Given the description of an element on the screen output the (x, y) to click on. 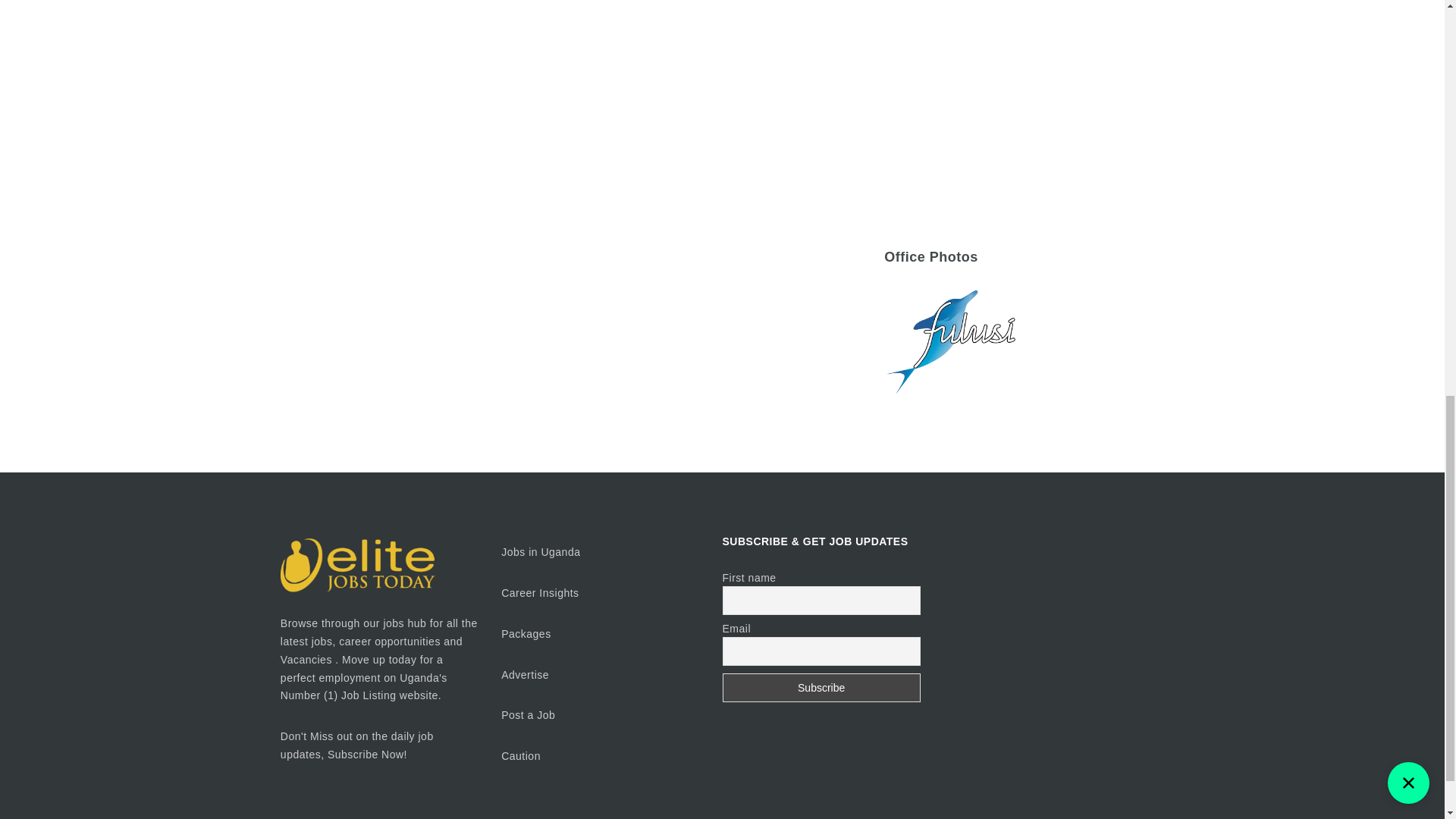
Advertisement (1023, 102)
Advertise  (525, 674)
Career Insights (539, 592)
Subscribe (821, 687)
Jobs in Uganda (539, 551)
Subscribe (821, 687)
Packages (525, 633)
Caution (520, 756)
Post a Job (527, 715)
